Given the description of an element on the screen output the (x, y) to click on. 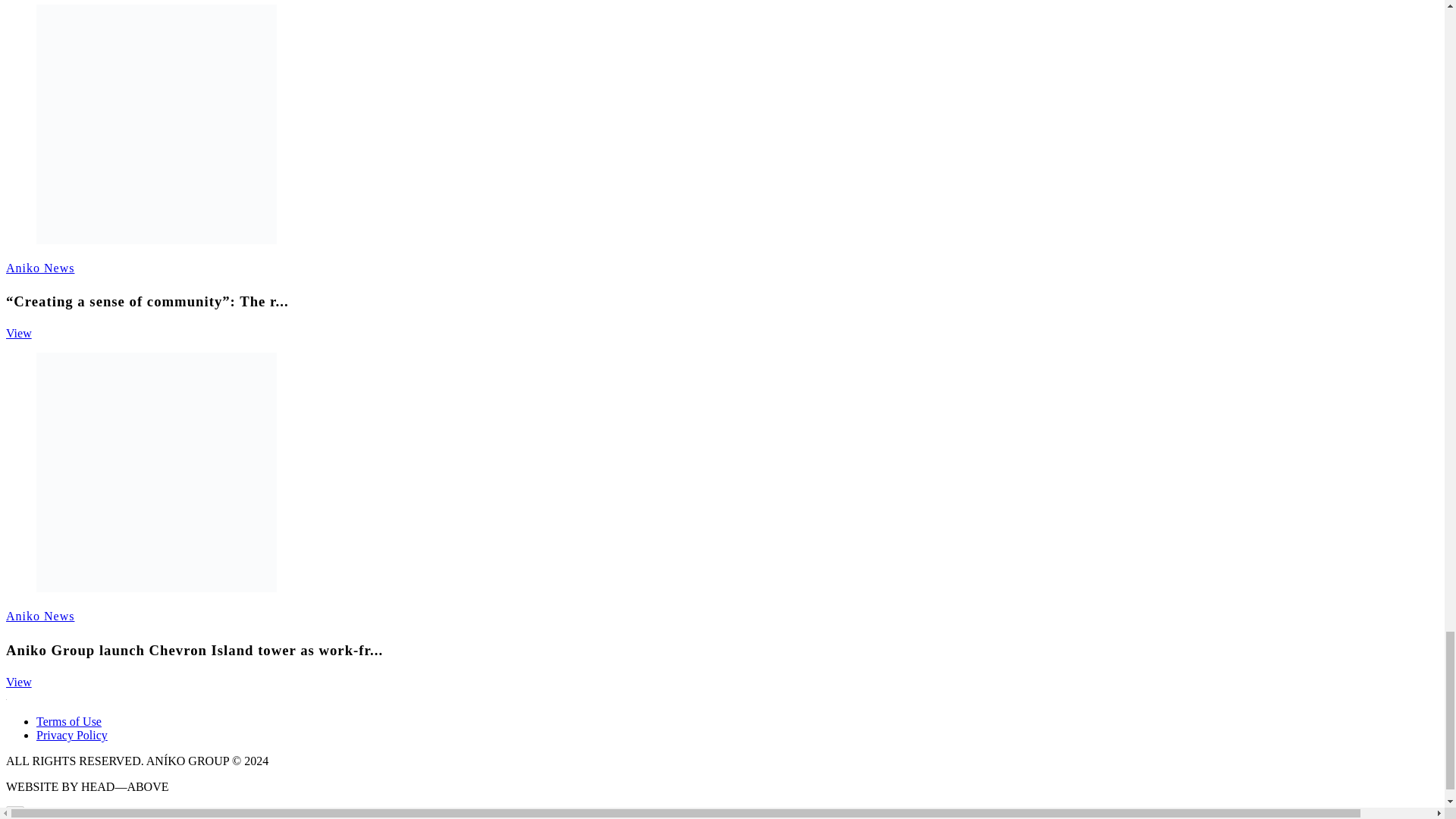
Aniko News (39, 615)
Aniko News (39, 267)
Terms of Use (68, 721)
View (18, 681)
Privacy Policy (71, 735)
View (18, 332)
